Given the description of an element on the screen output the (x, y) to click on. 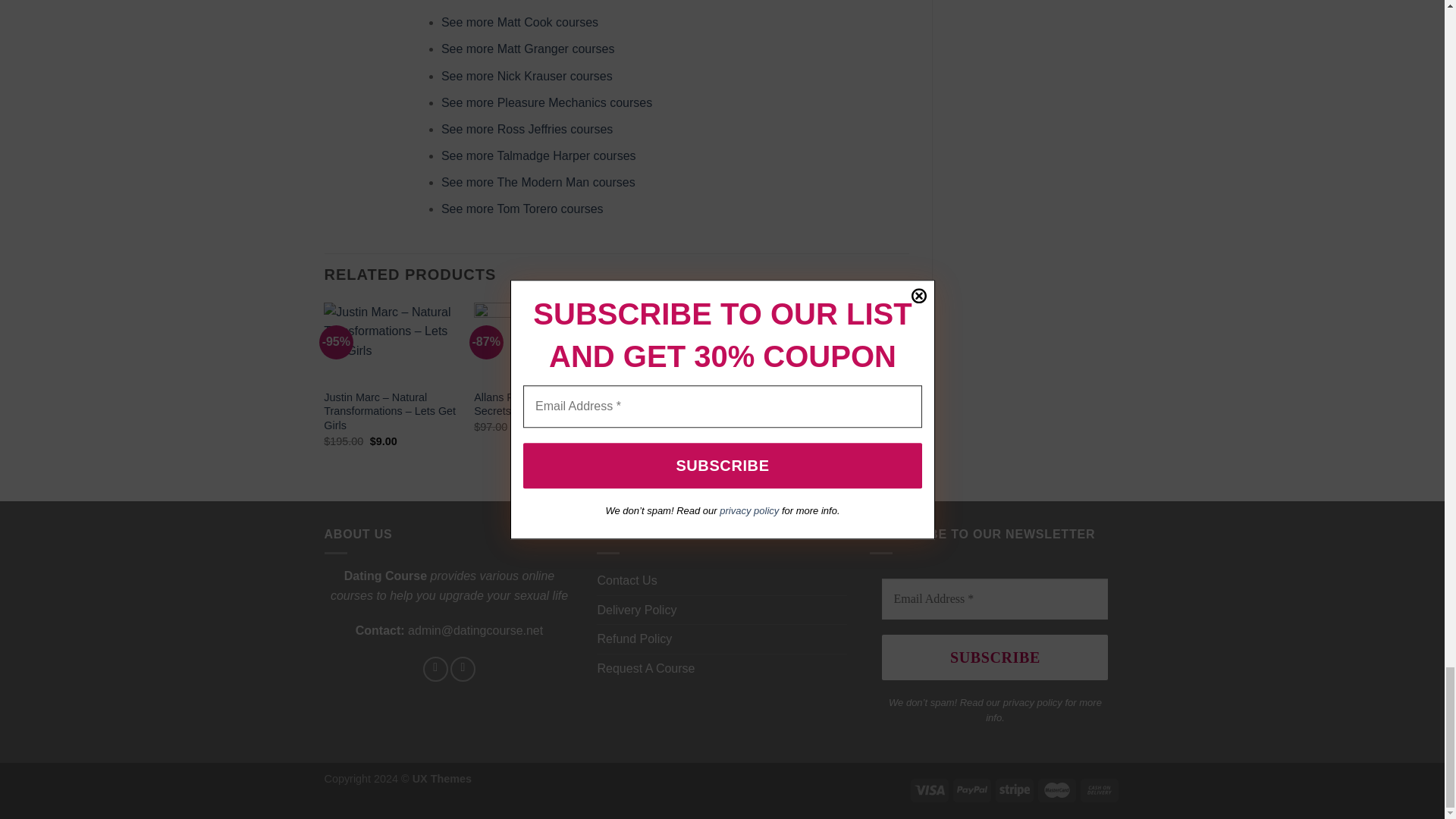
Email Address (995, 598)
SUBSCRIBE (995, 657)
